Given the description of an element on the screen output the (x, y) to click on. 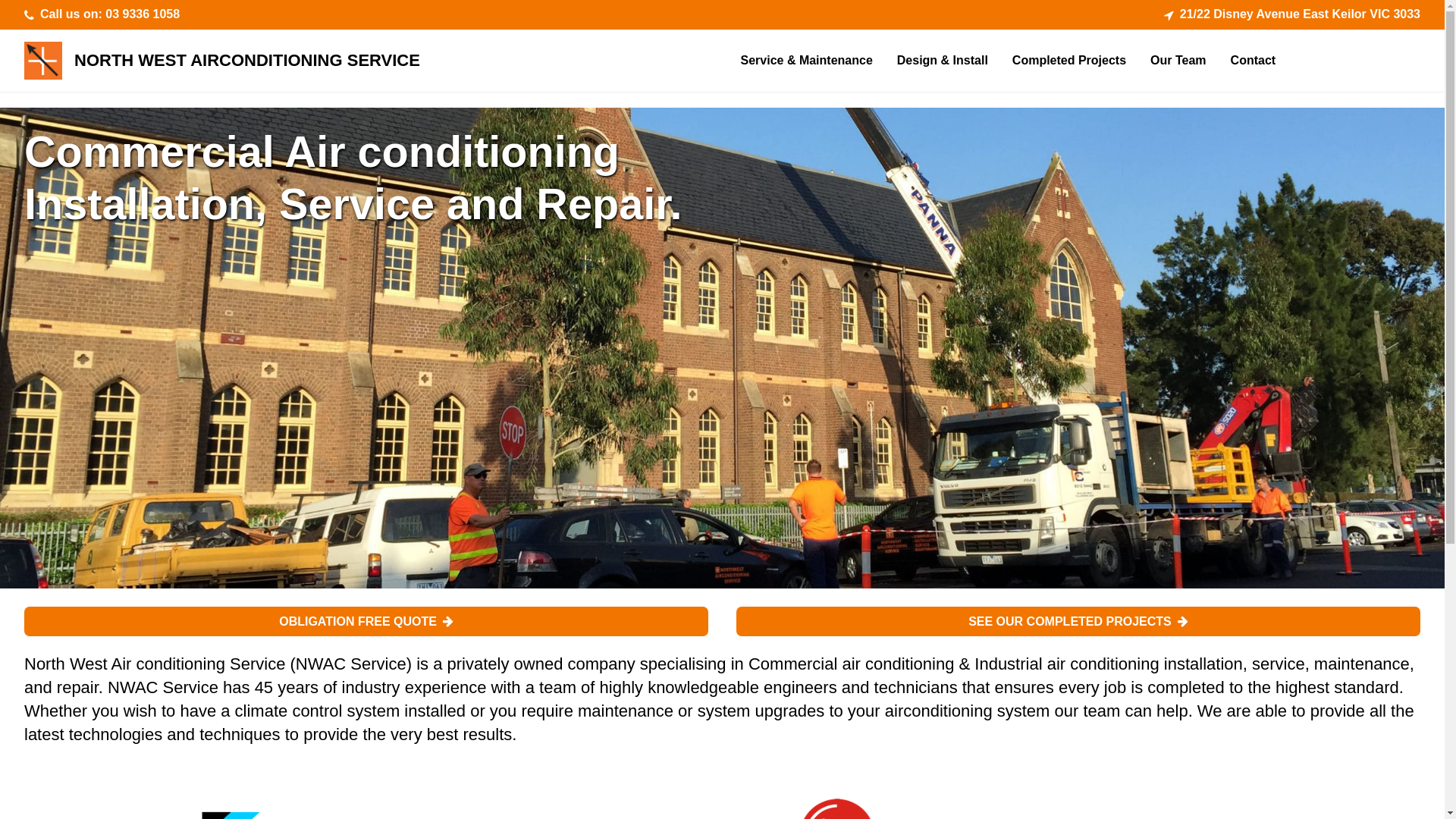
03 9336 1058 Element type: text (142, 13)
Design & Install Element type: text (942, 60)
Commercial air conditioning Element type: text (850, 663)
Completed Projects Element type: text (1069, 60)
Our Team Element type: text (1178, 60)
21/22 Disney Avenue East Keilor VIC 3033 Element type: text (1299, 13)
Industrial air conditioning Element type: text (1066, 663)
Service & Maintenance Element type: text (806, 60)
SEE OUR COMPLETED PROJECTS Element type: text (1078, 621)
OBLIGATION FREE QUOTE Element type: text (366, 621)
NORTH WEST AIRCONDITIONING SERVICE Element type: text (247, 60)
Contact Element type: text (1253, 60)
